Given the description of an element on the screen output the (x, y) to click on. 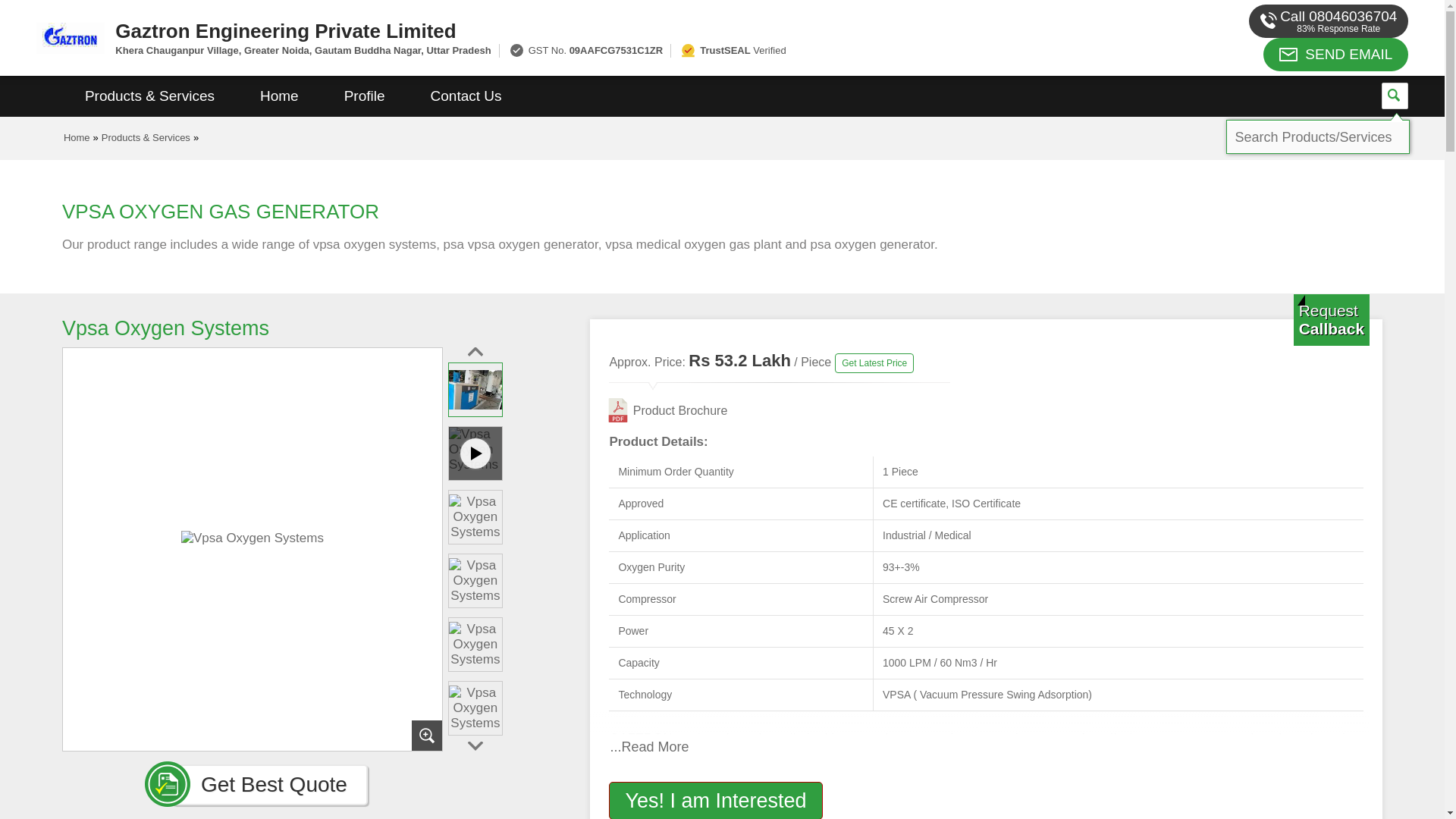
Profile (364, 96)
Get a Call from us (1332, 319)
Home (279, 96)
Home (77, 137)
Contact Us (465, 96)
Gaztron Engineering Private Limited (552, 31)
